Given the description of an element on the screen output the (x, y) to click on. 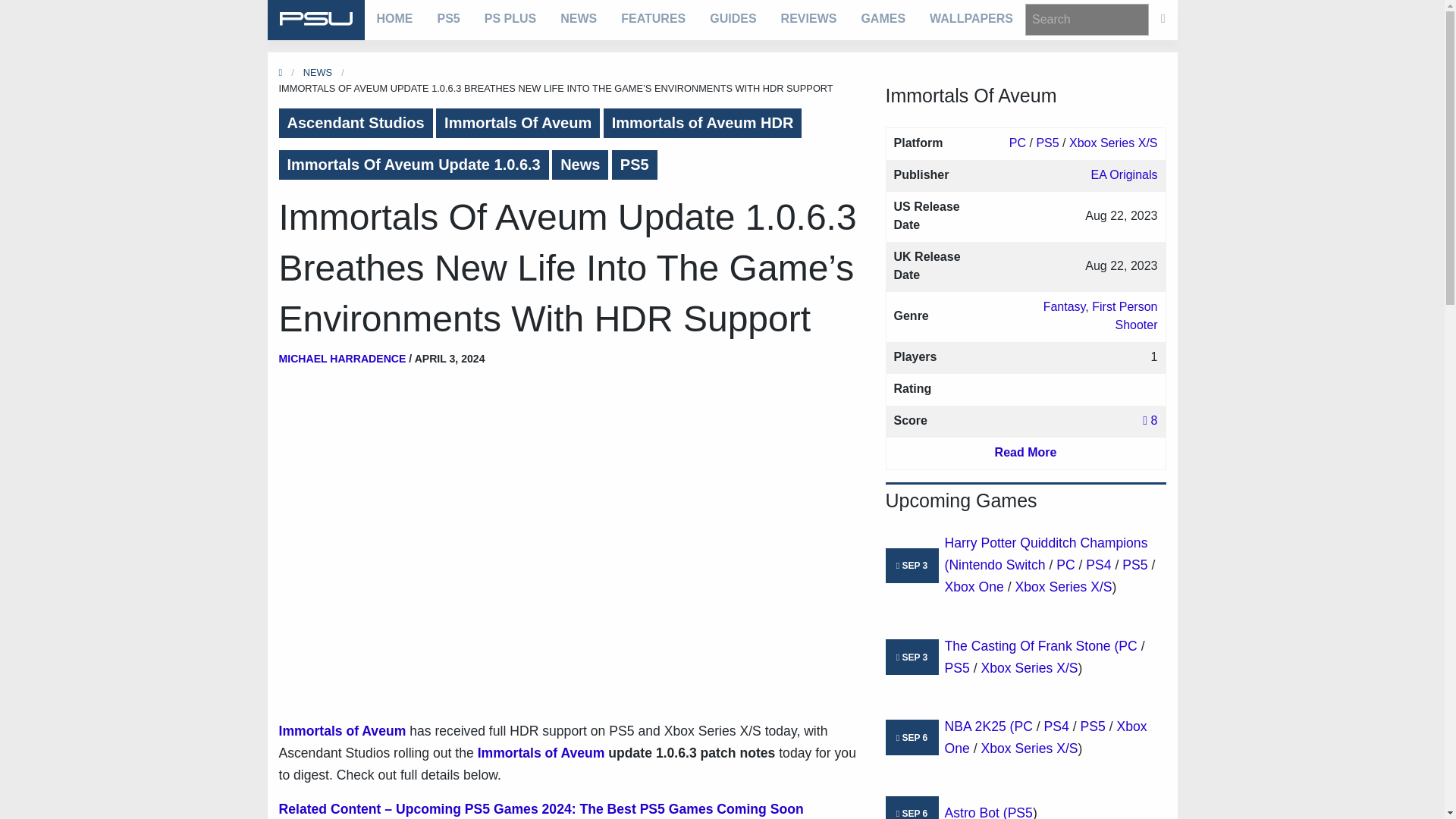
Ascendant Studios (355, 123)
Immortals Of Aveum (971, 98)
PC (1017, 142)
Immortals Of Aveum (517, 123)
HOME (394, 18)
GUIDES (732, 18)
Immortals Of Aveum Update 1.0.6.3 (413, 164)
PS5 (634, 164)
Immortals of Aveum (342, 730)
NEWS (578, 18)
